Given the description of an element on the screen output the (x, y) to click on. 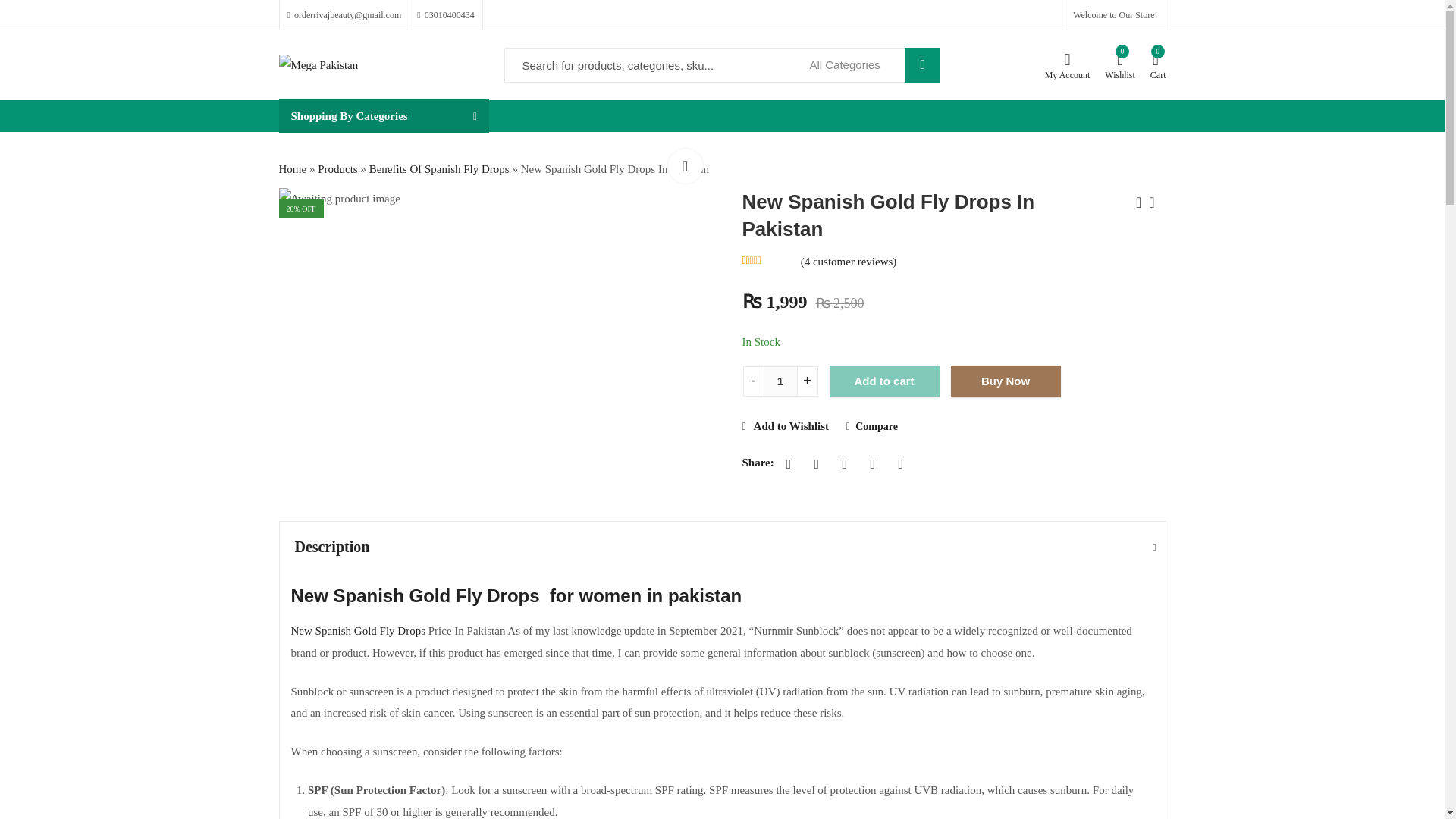
My Account (1067, 65)
Search (922, 64)
Add to cart (884, 381)
1 (779, 381)
Compare (871, 427)
Home (293, 168)
Buy Now (1005, 381)
Add to Wishlist (784, 426)
Products (337, 168)
